Given the description of an element on the screen output the (x, y) to click on. 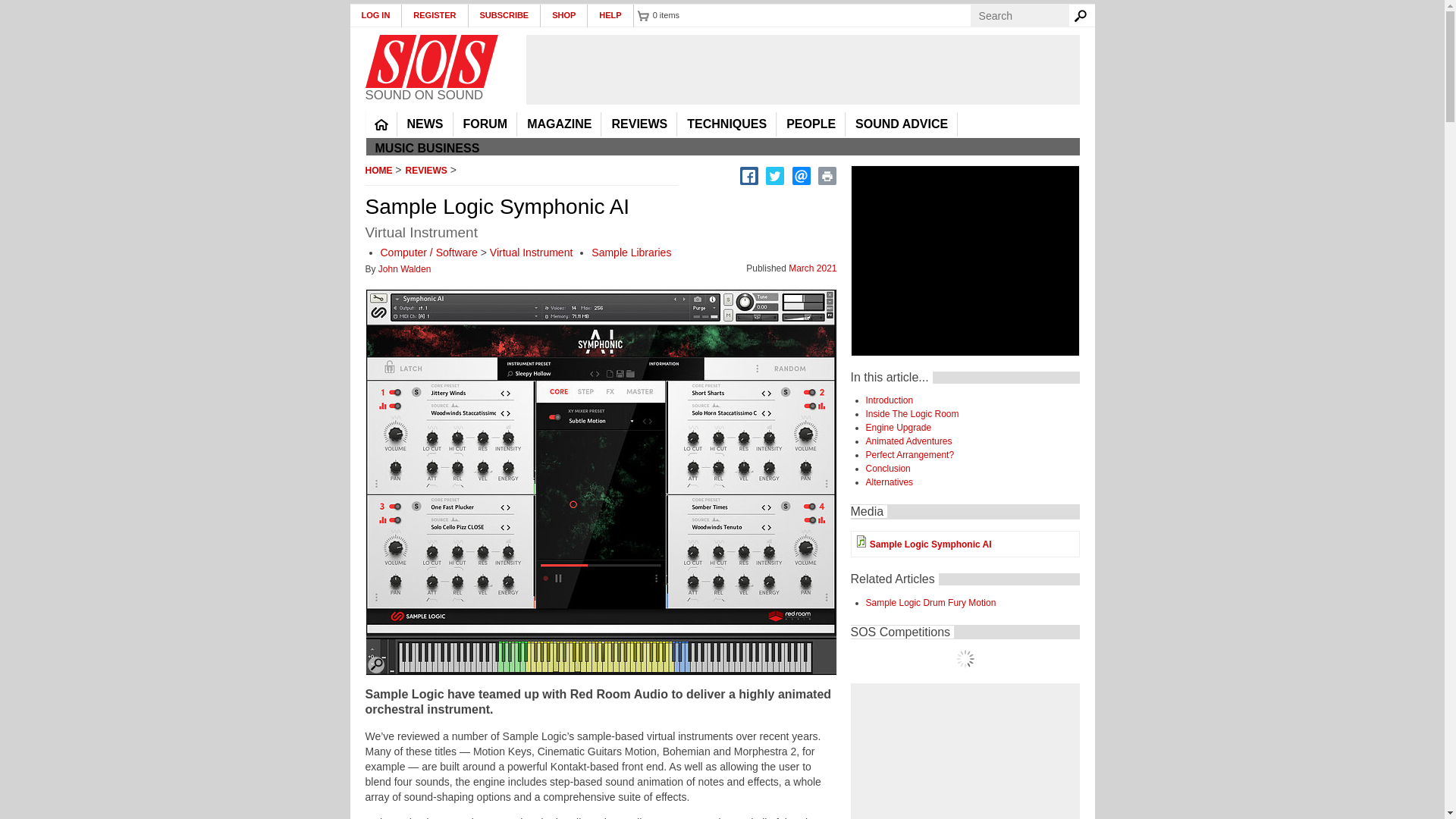
Search (1082, 15)
Search (1082, 15)
FORUM (484, 124)
NEWS (424, 124)
LOG IN (376, 15)
REGISTER (434, 15)
SUBSCRIBE (504, 15)
HELP (610, 15)
SHOP (564, 15)
MAGAZINE (558, 124)
